Given the description of an element on the screen output the (x, y) to click on. 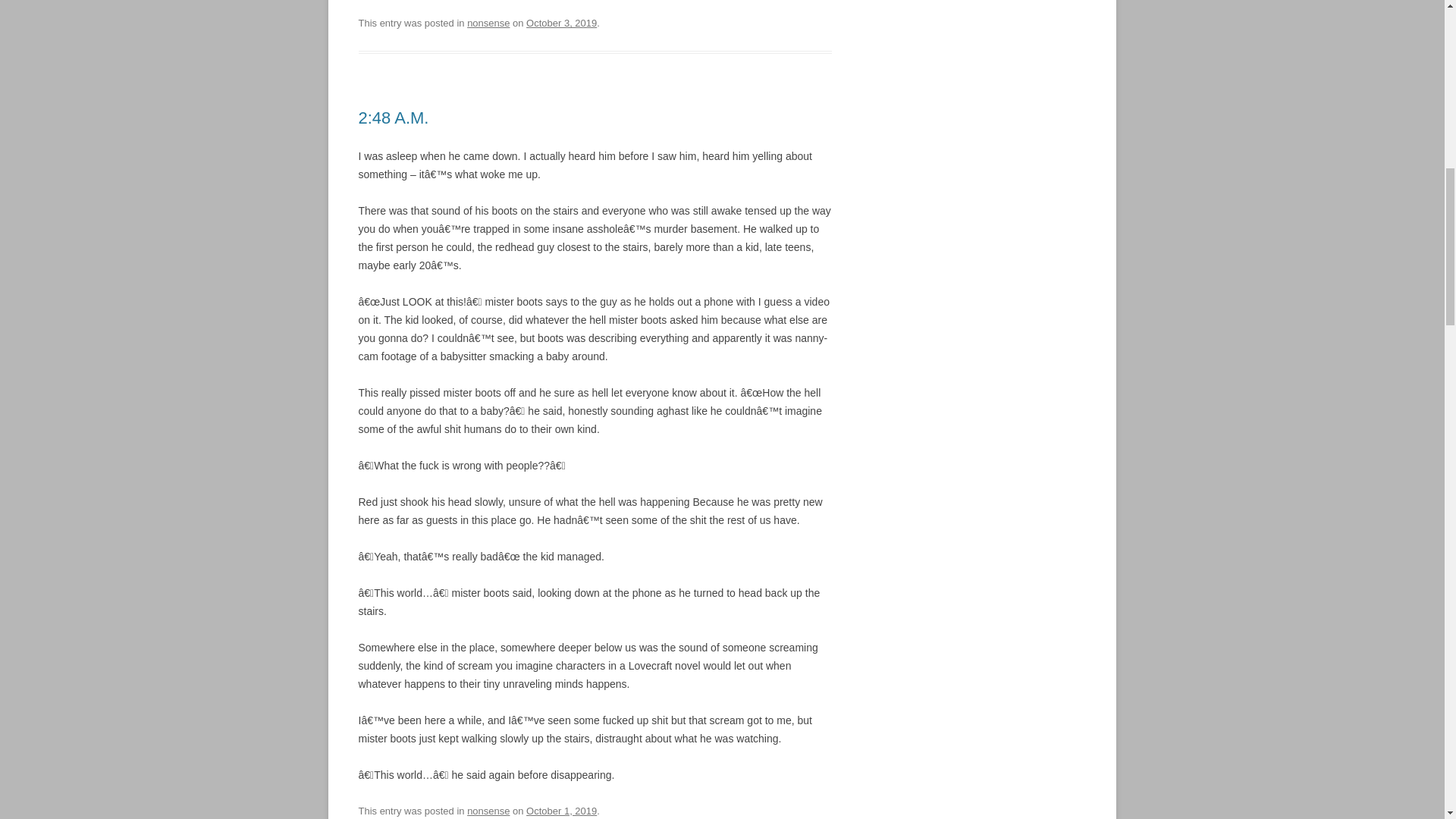
3:16 am (560, 810)
October 1, 2019 (560, 810)
nonsense (488, 22)
October 3, 2019 (560, 22)
3:42 am (560, 22)
2:48 A.M. (393, 117)
Permalink to 2:48 A.M. (393, 117)
nonsense (488, 810)
